Given the description of an element on the screen output the (x, y) to click on. 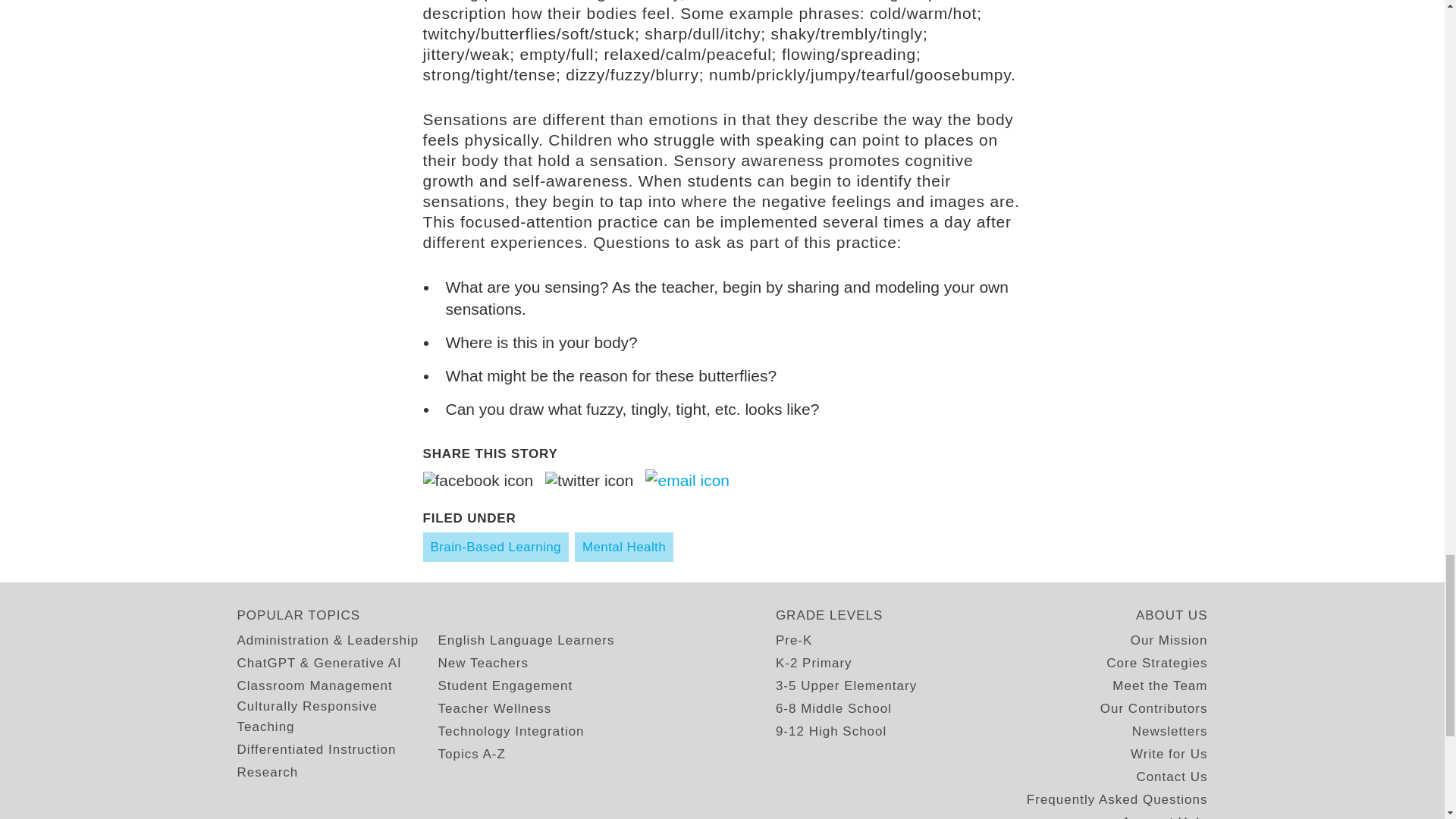
Student Engagement (505, 685)
Brain-Based Learning (496, 546)
3-5 Upper Elementary (846, 685)
Topics A-Z (471, 753)
Differentiated Instruction (315, 749)
New Teachers (483, 662)
K-2 Primary (813, 662)
Pre-K (794, 639)
Technology Integration (511, 731)
Classroom Management (313, 685)
Research (266, 772)
English Language Learners (526, 639)
Culturally Responsive Teaching (336, 716)
Mental Health (623, 546)
Teacher Wellness (494, 708)
